Given the description of an element on the screen output the (x, y) to click on. 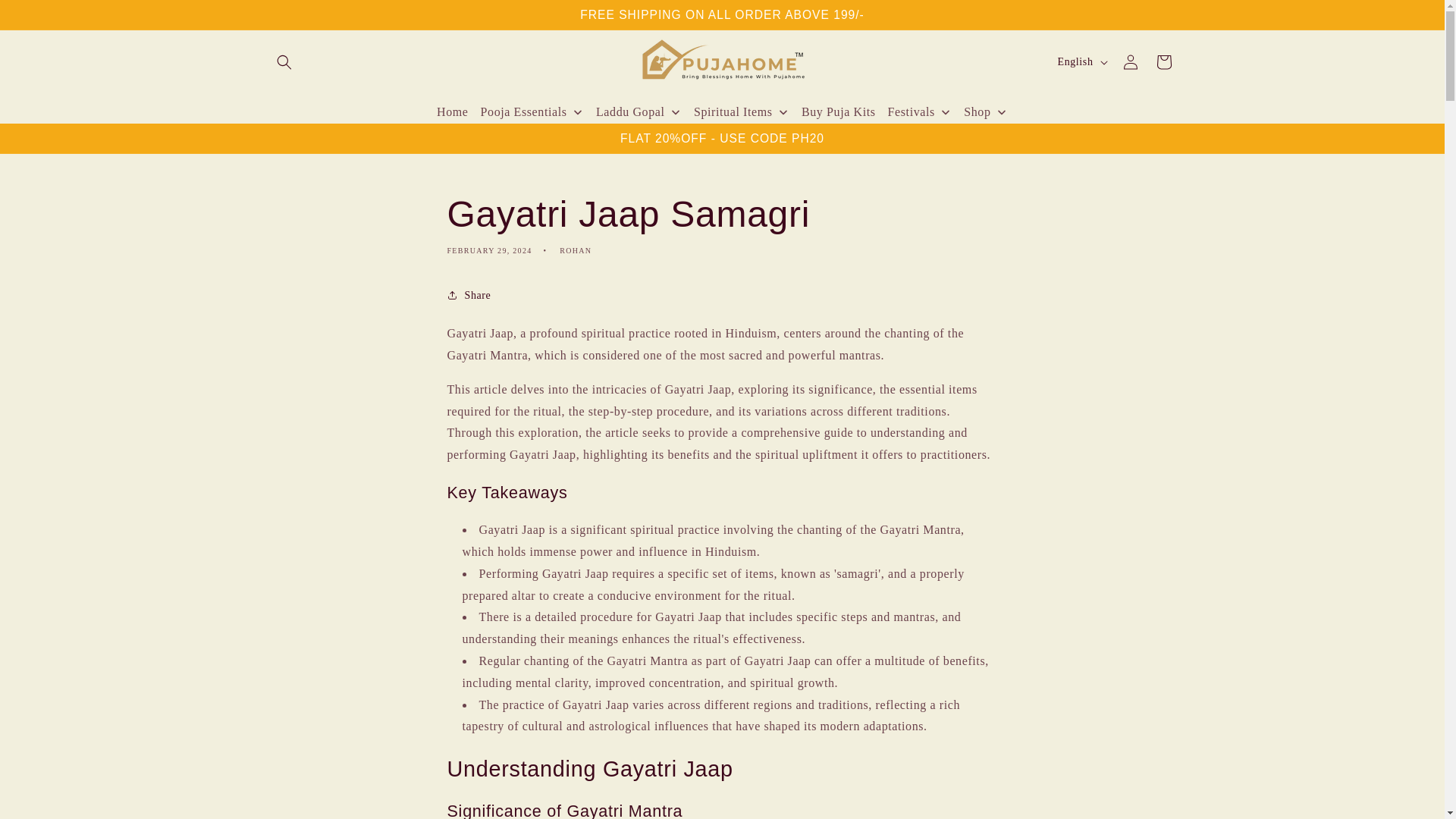
Laddu Gopal (638, 112)
Home (452, 112)
Skip to content (46, 18)
Pooja Essentials (531, 112)
